Given the description of an element on the screen output the (x, y) to click on. 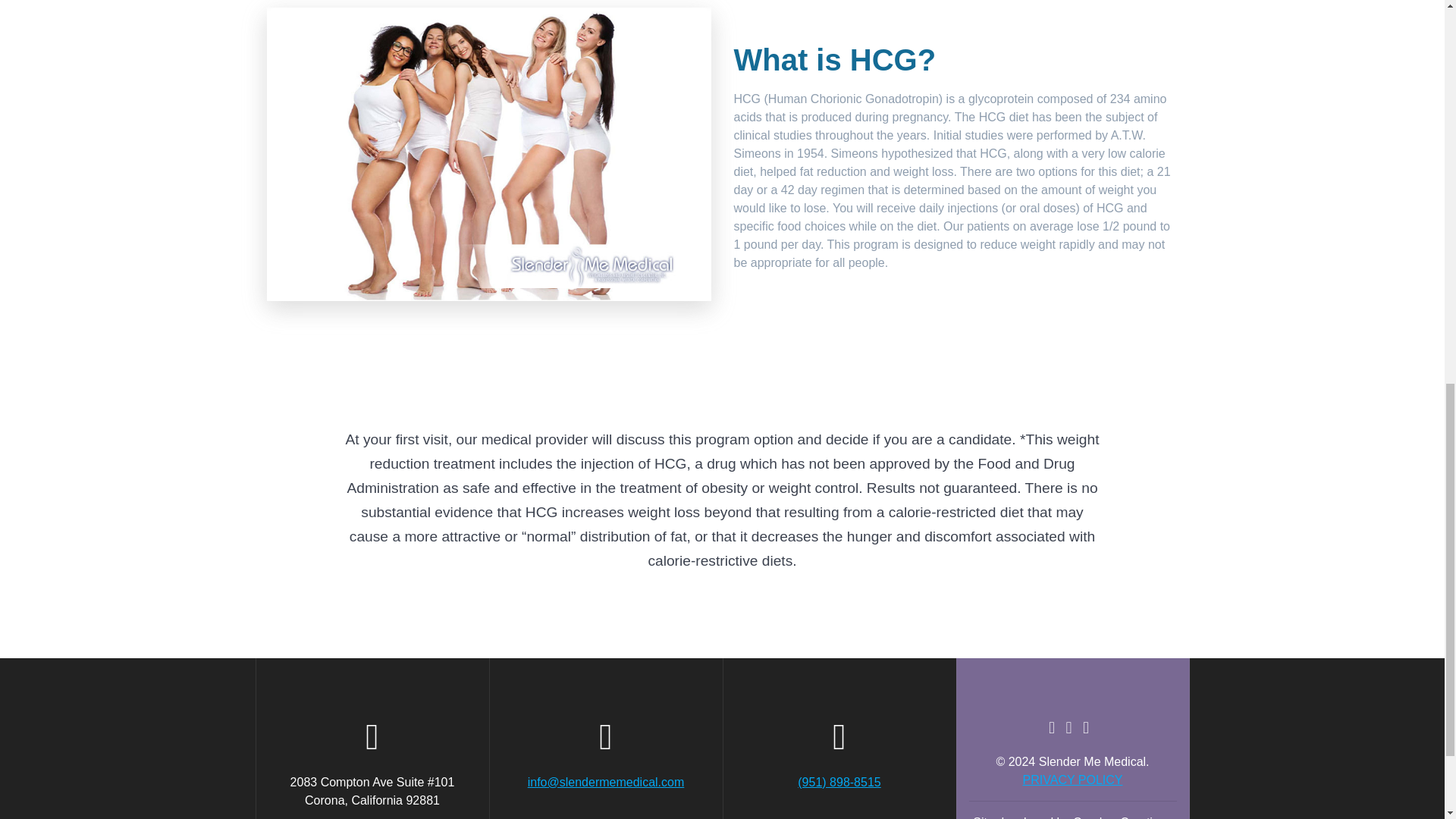
HGC-2 (488, 154)
PRIVACY POLICY (1072, 779)
